Given the description of an element on the screen output the (x, y) to click on. 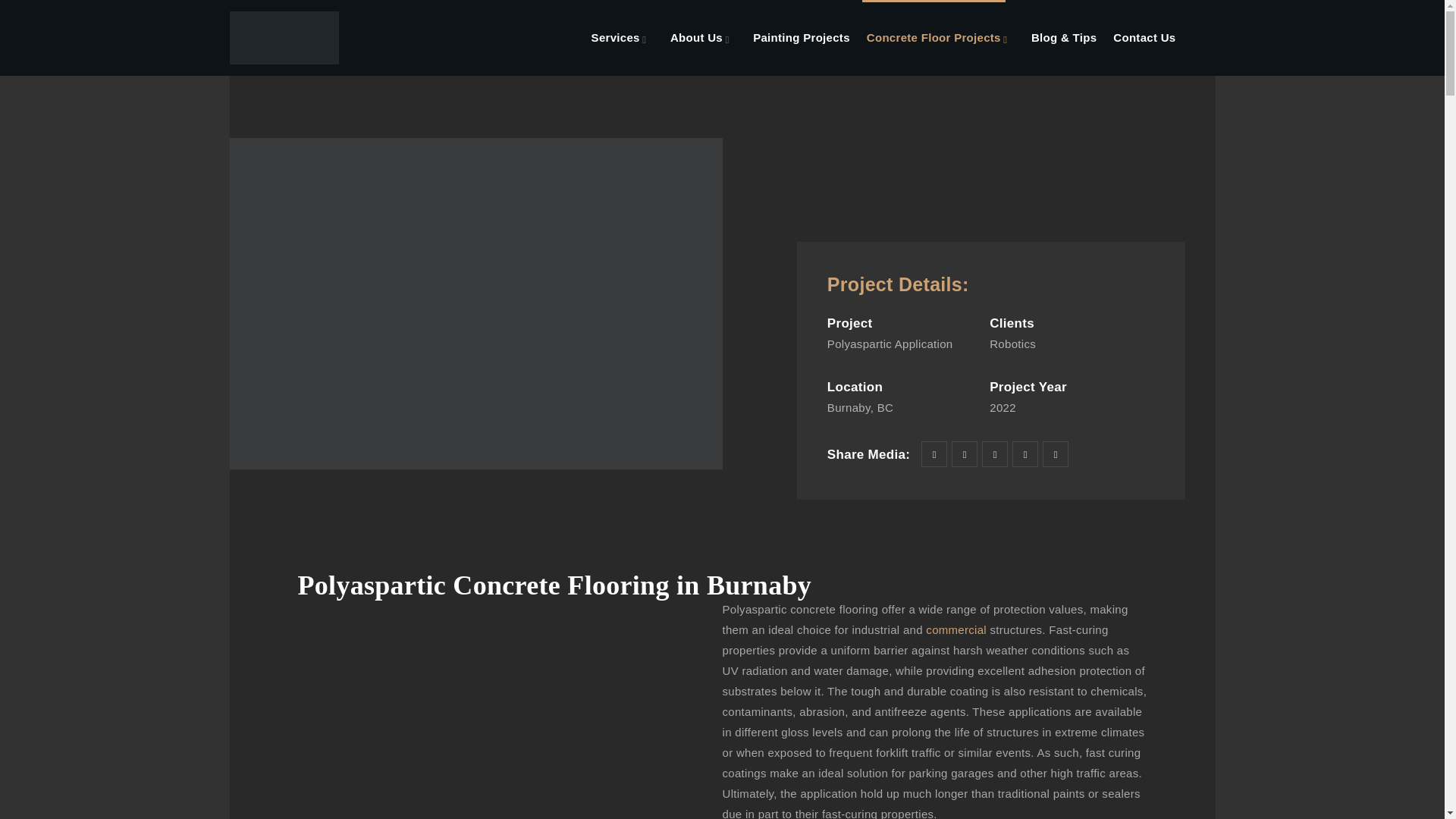
Concrete Floor Projects (934, 38)
About Us (696, 38)
AZ Painting Ltd. (283, 38)
Painting Projects (801, 38)
Contact Us (1144, 38)
